Given the description of an element on the screen output the (x, y) to click on. 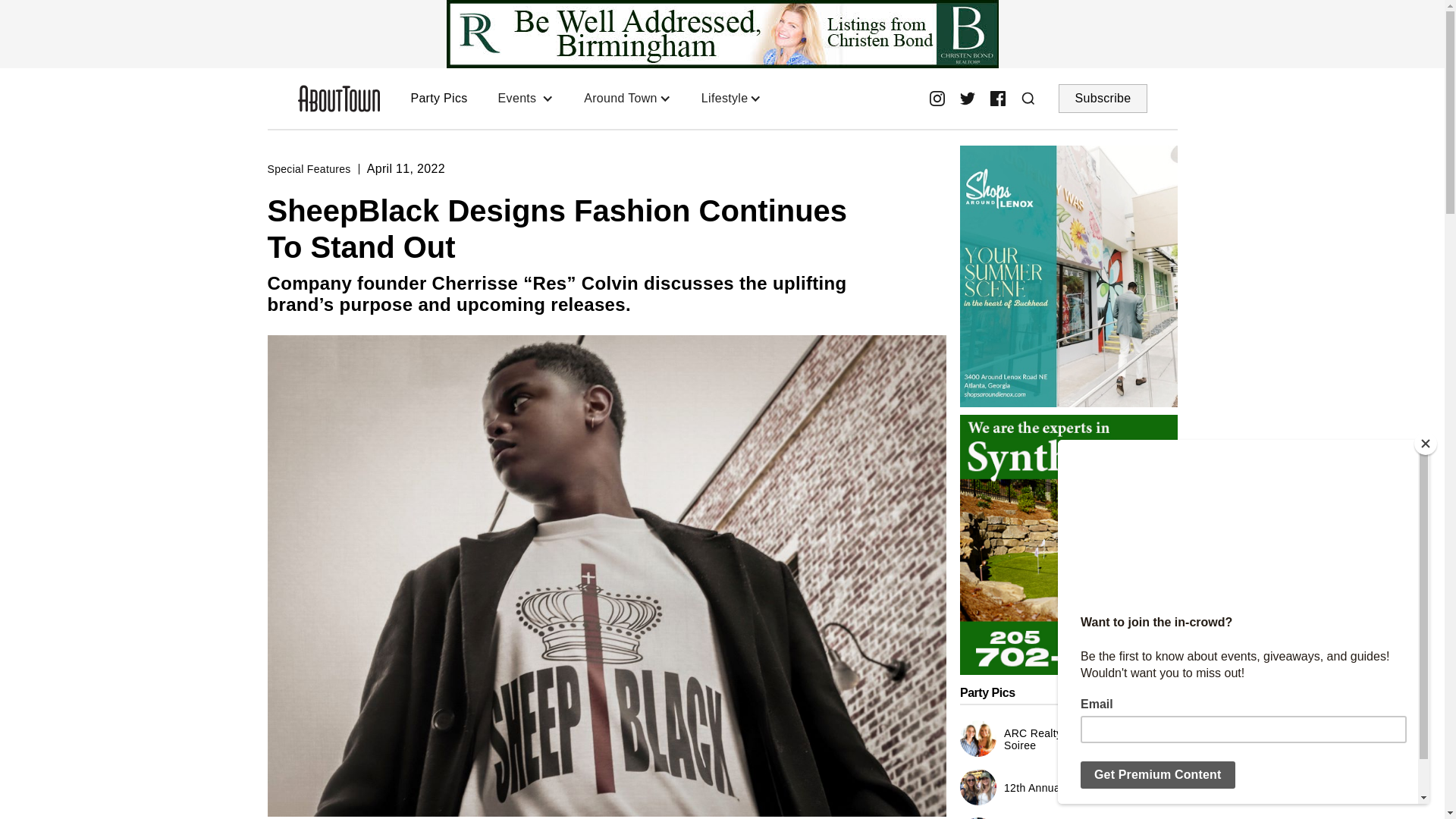
Party Pics (437, 97)
